Given the description of an element on the screen output the (x, y) to click on. 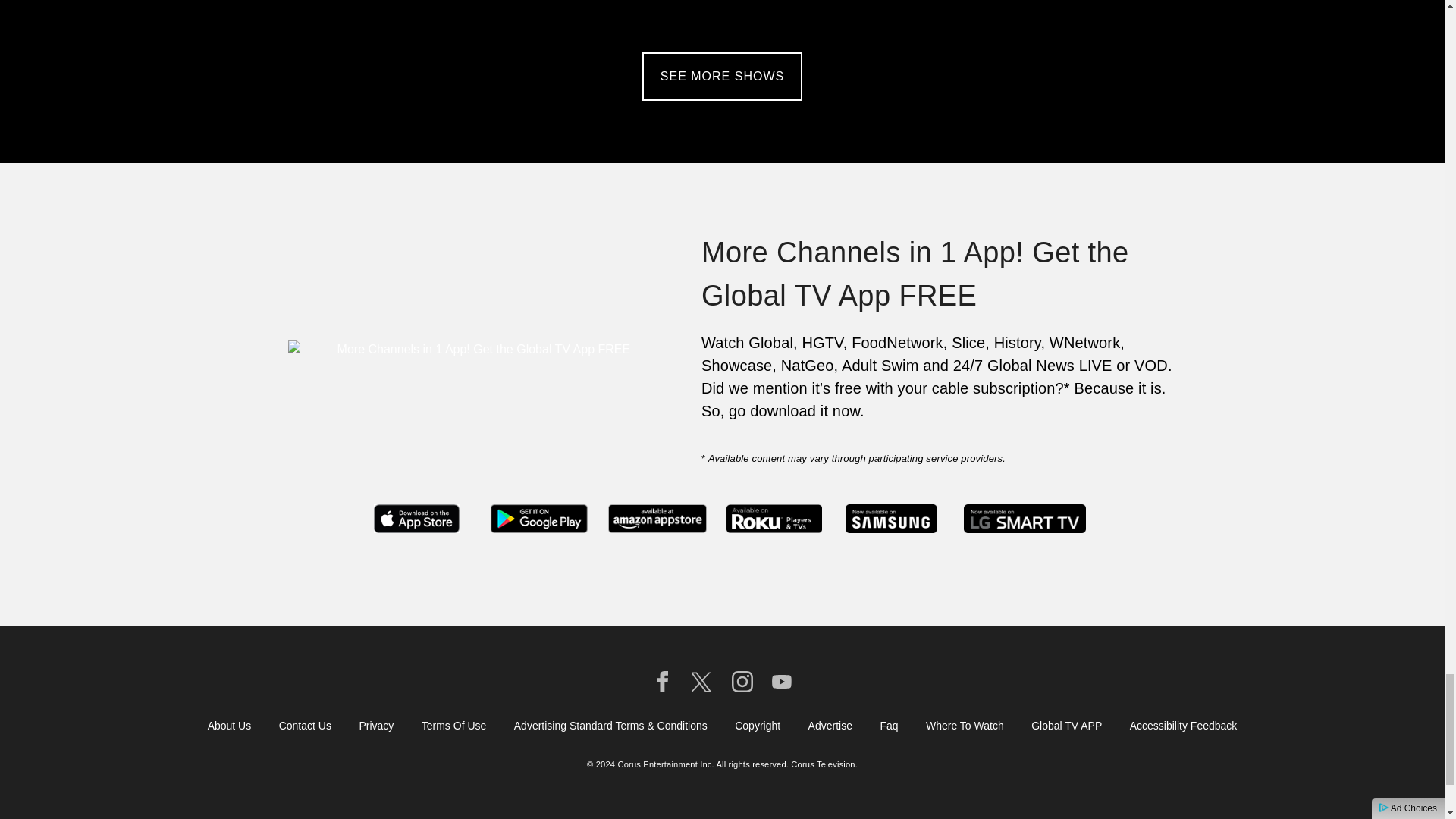
SEE MORE SHOWS (722, 76)
Hidden Assets (853, 13)
The Young and the Restless (590, 13)
Entertainment Tonight (325, 13)
